Given the description of an element on the screen output the (x, y) to click on. 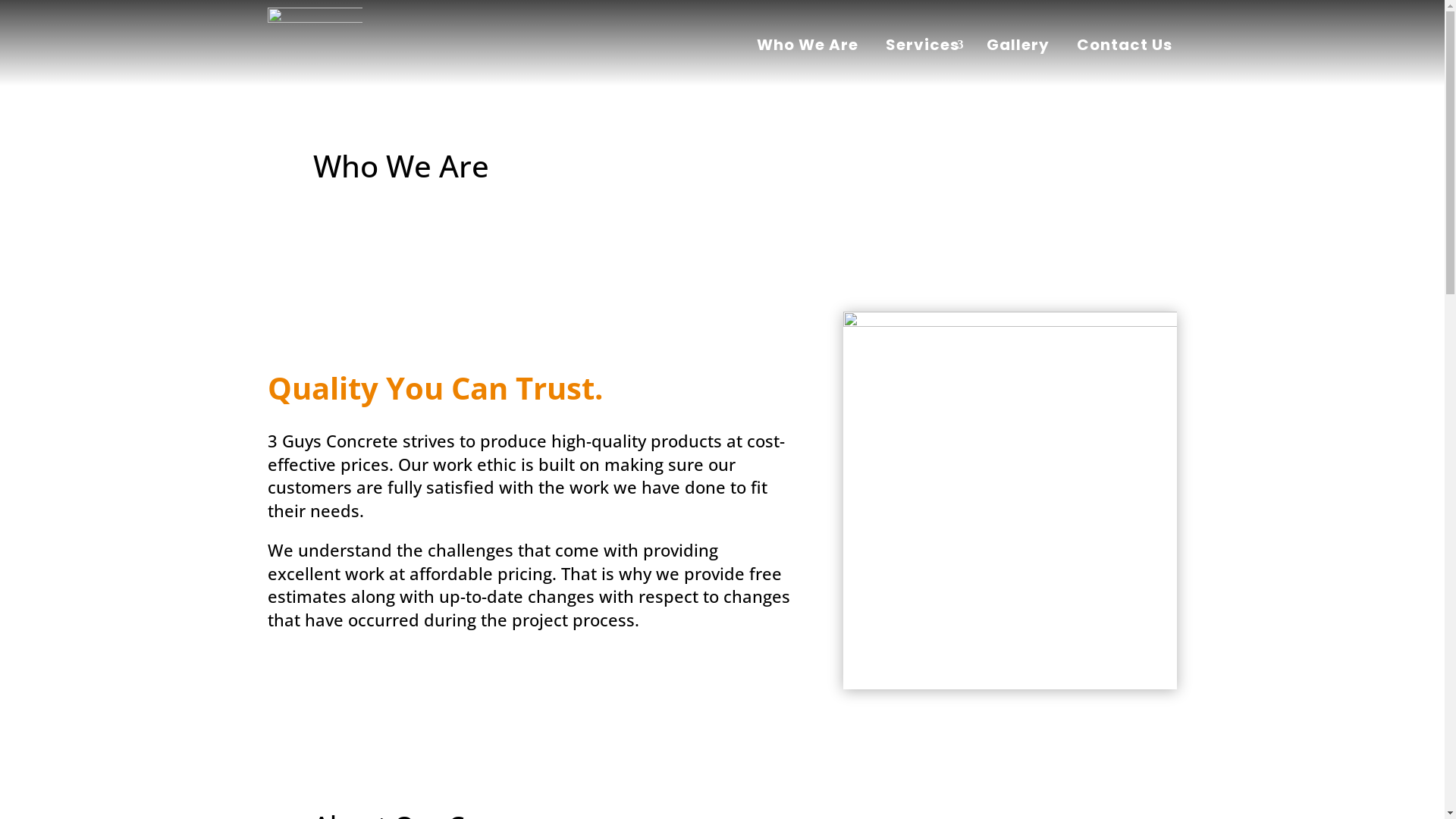
white logo Element type: hover (313, 44)
Services Element type: text (921, 47)
Gallery Element type: text (1017, 47)
Sidewalk Element type: hover (1009, 500)
Contact Us Element type: text (1123, 47)
Who We Are Element type: text (806, 47)
